Given the description of an element on the screen output the (x, y) to click on. 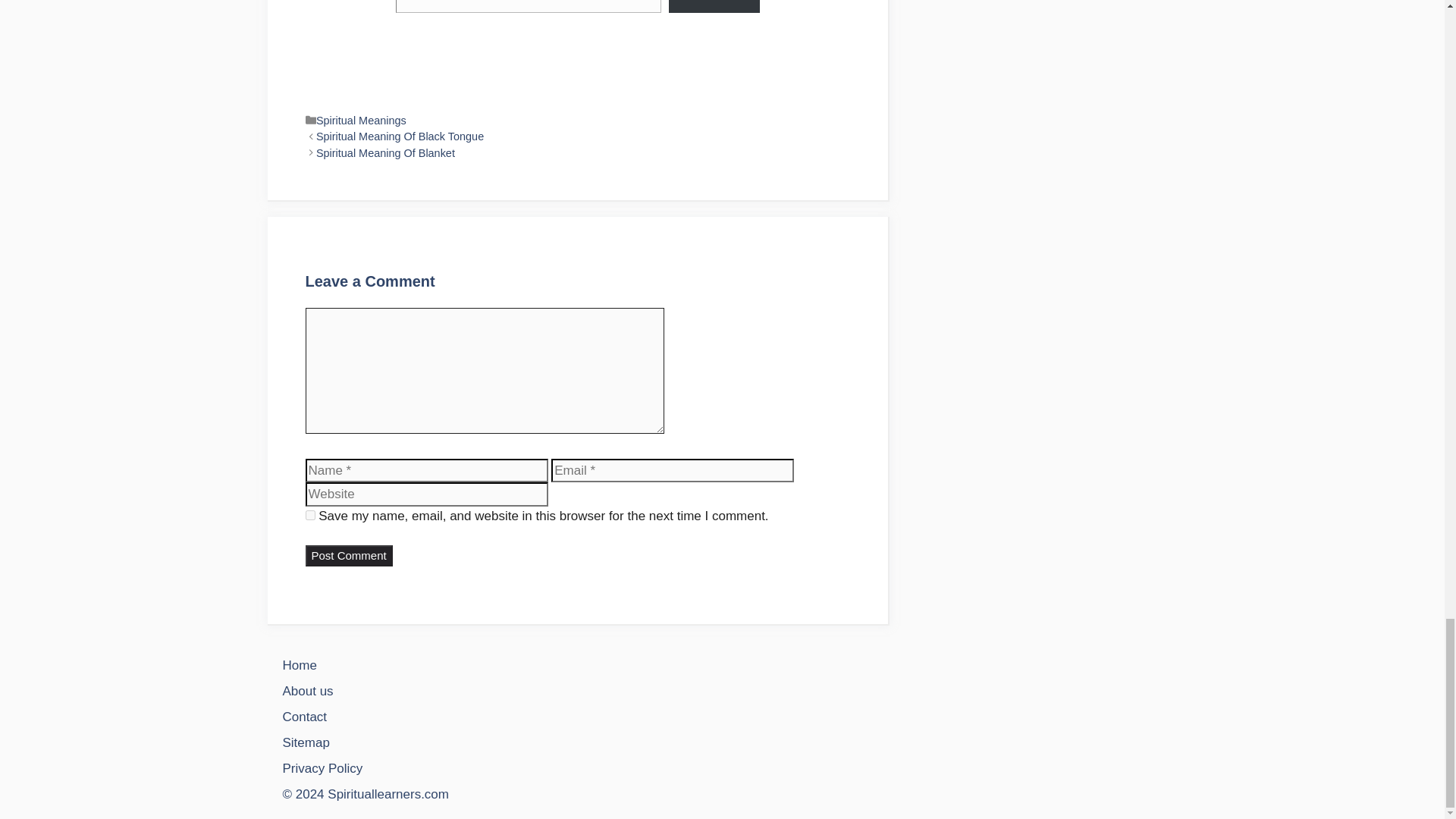
Sitemap (305, 742)
Spiritual Meaning Of Black Tongue (399, 136)
Spiritual Meaning Of Blanket (384, 152)
yes (309, 515)
Contact (304, 716)
About us (307, 690)
Home (298, 665)
Please fill in this field. (529, 6)
Post Comment (347, 556)
Post Comment (347, 556)
Spiritual Meanings (360, 120)
Subscribe (713, 6)
